Given the description of an element on the screen output the (x, y) to click on. 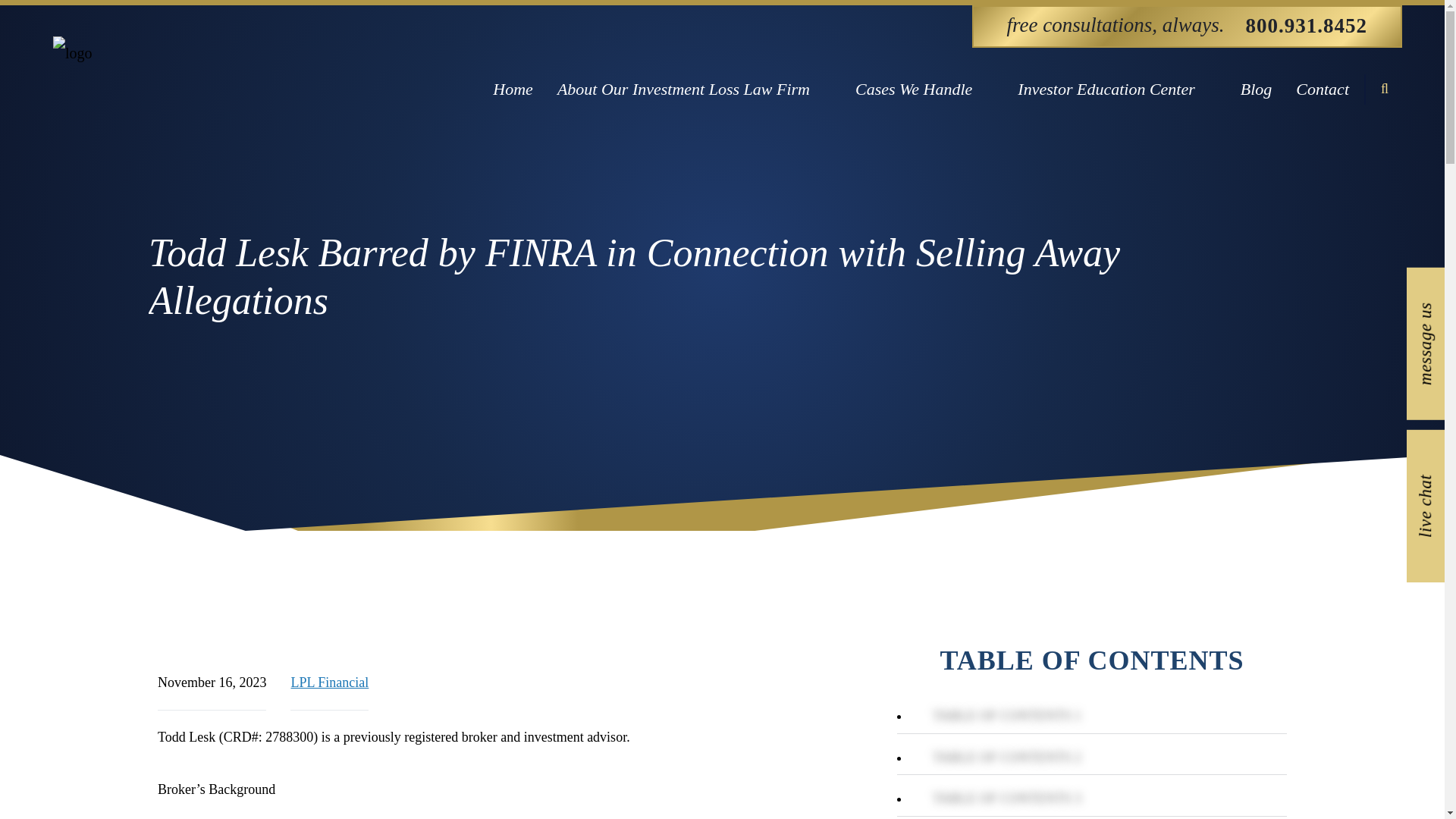
800.931.8452 (1305, 26)
Home (512, 89)
About Our Investment Loss Law Firm (693, 89)
Cases We Handle (924, 89)
About Our Investment Loss Law Firm (693, 89)
Cases We Handle (924, 89)
Home (512, 89)
